Given the description of an element on the screen output the (x, y) to click on. 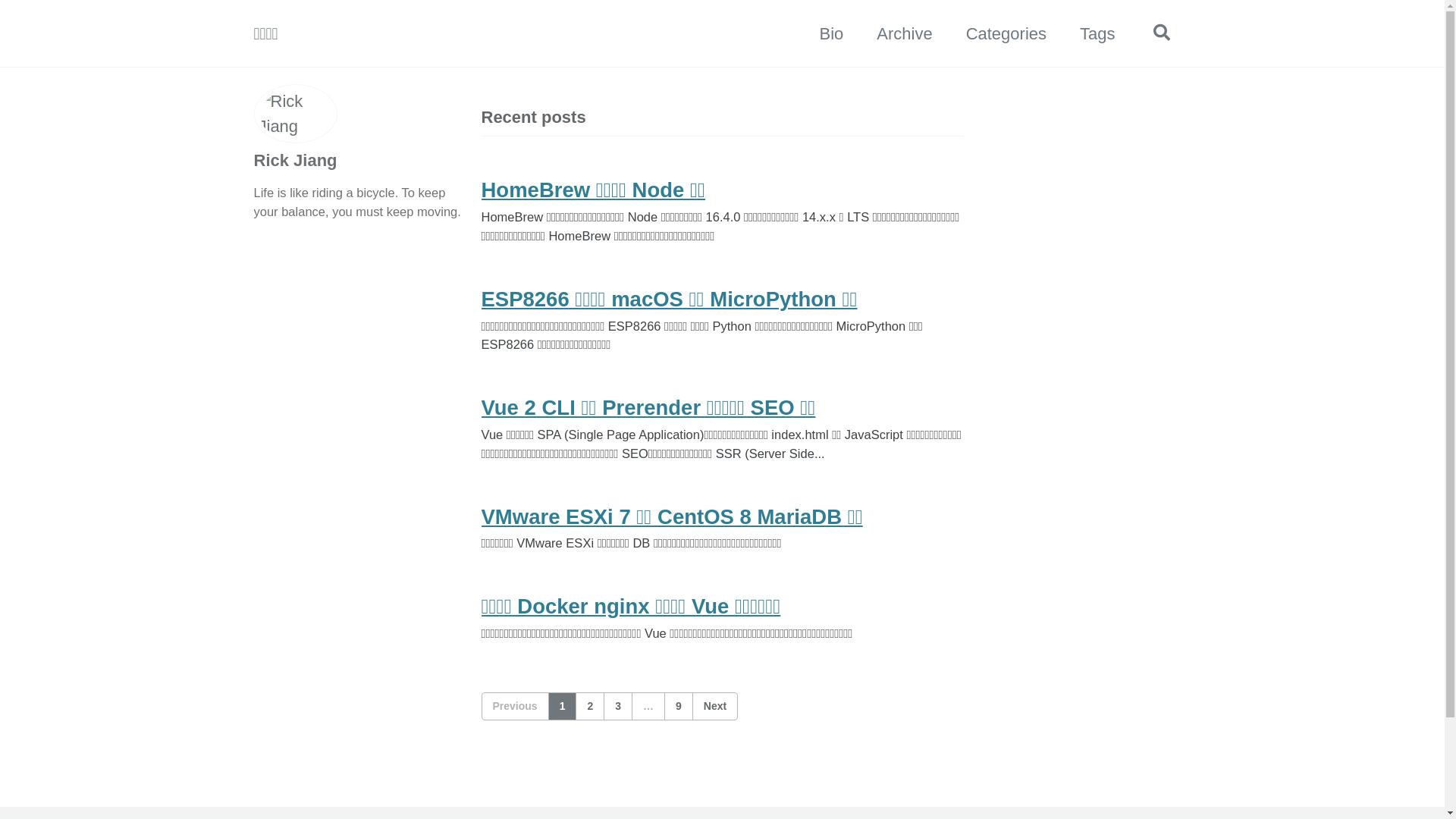
Previous Element type: text (514, 706)
Skip to primary navigation Element type: text (0, 0)
Bio Element type: text (831, 33)
Next Element type: text (714, 706)
Tags Element type: text (1096, 33)
2 Element type: text (589, 706)
Archive Element type: text (903, 33)
9 Element type: text (678, 706)
Toggle search Element type: text (1160, 33)
3 Element type: text (617, 706)
Categories Element type: text (1006, 33)
1 Element type: text (562, 706)
